Given the description of an element on the screen output the (x, y) to click on. 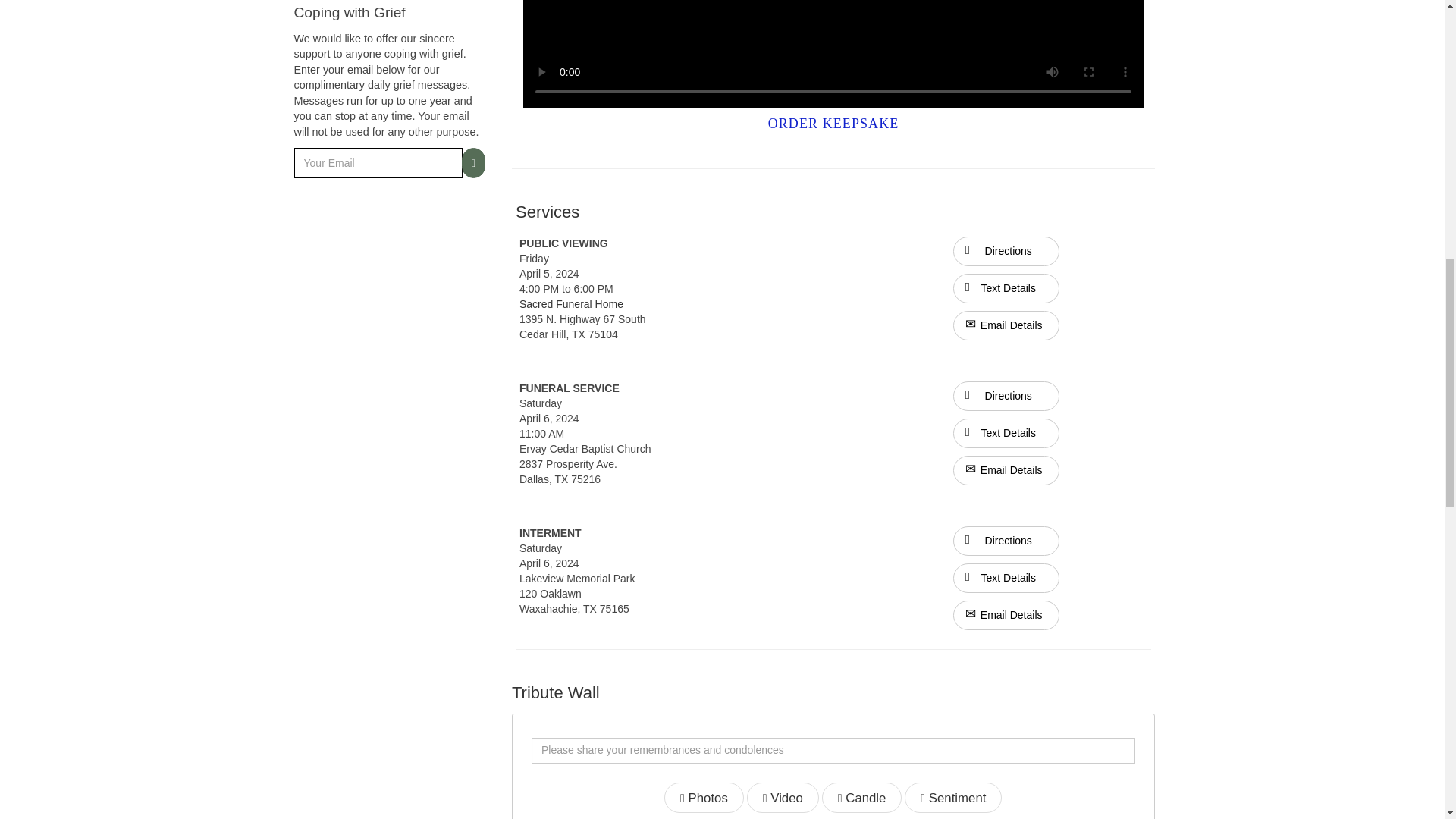
Text Details (1006, 288)
Directions (1006, 250)
Email Details (1006, 614)
Directions (1006, 541)
Directions (1006, 396)
Directions (1006, 395)
Directions (1006, 539)
Text Details (1006, 577)
Email Details (1006, 470)
Text Details (1006, 432)
Email Details (1006, 325)
Sacred Funeral Home (571, 304)
Directions (1006, 251)
